Given the description of an element on the screen output the (x, y) to click on. 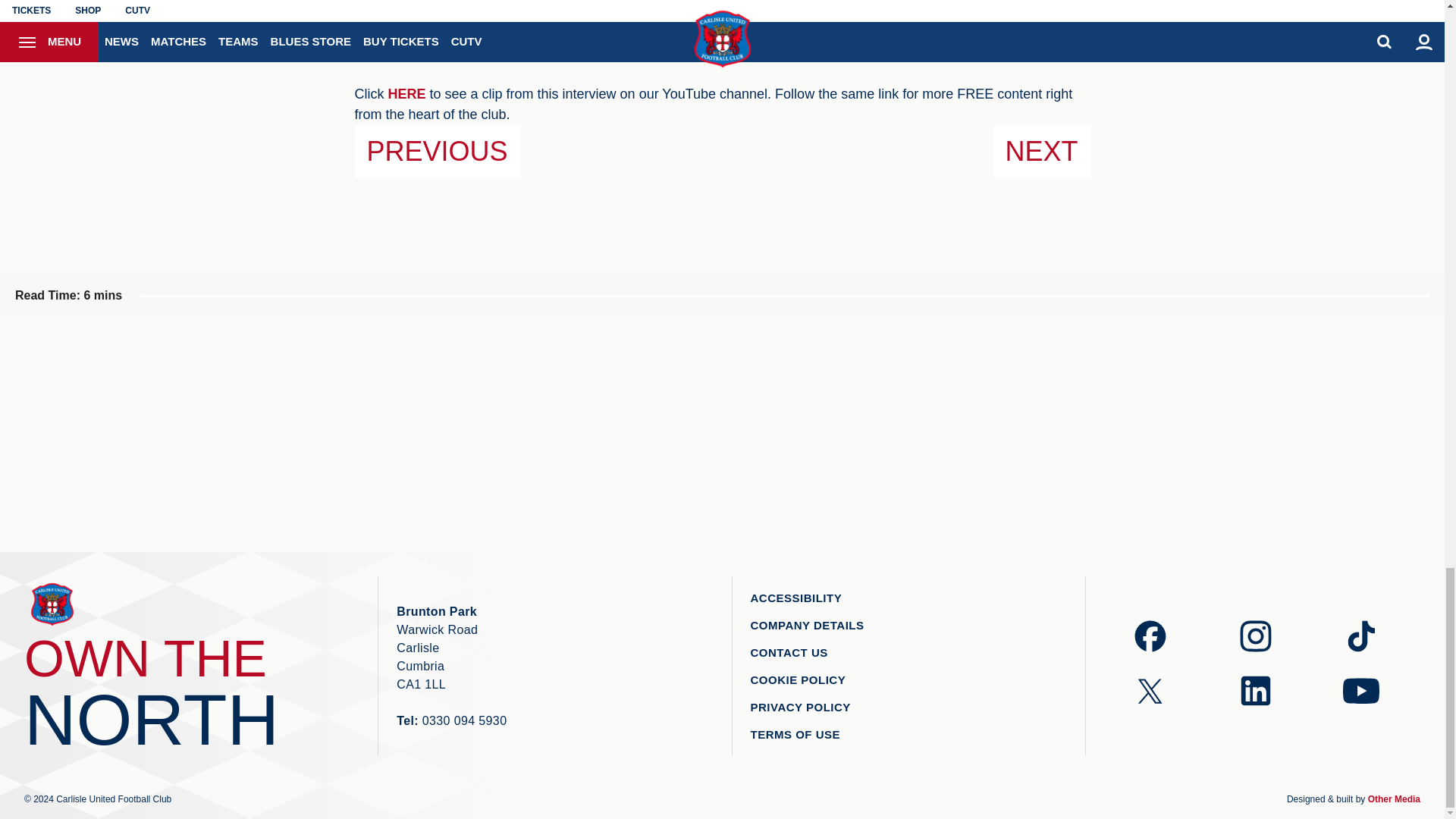
3rd party ad content (1098, 432)
3rd party ad content (344, 432)
3rd party ad content (846, 432)
YouTube (407, 93)
3rd party ad content (595, 432)
